Given the description of an element on the screen output the (x, y) to click on. 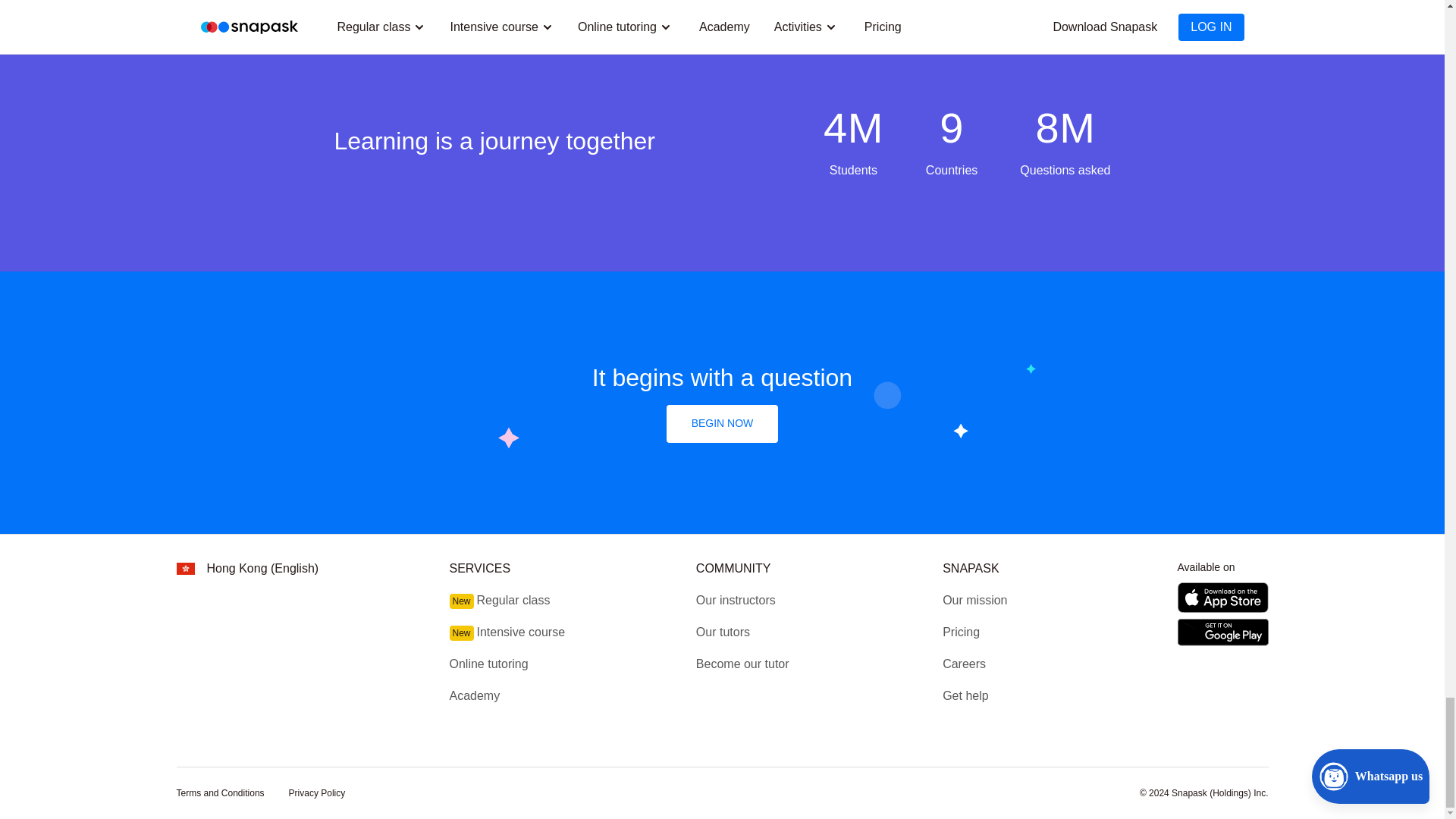
Our instructors (735, 599)
Regular class (513, 599)
Intensive course (521, 631)
Academy (473, 695)
Online tutoring (487, 663)
BEGIN NOW (722, 423)
